Given the description of an element on the screen output the (x, y) to click on. 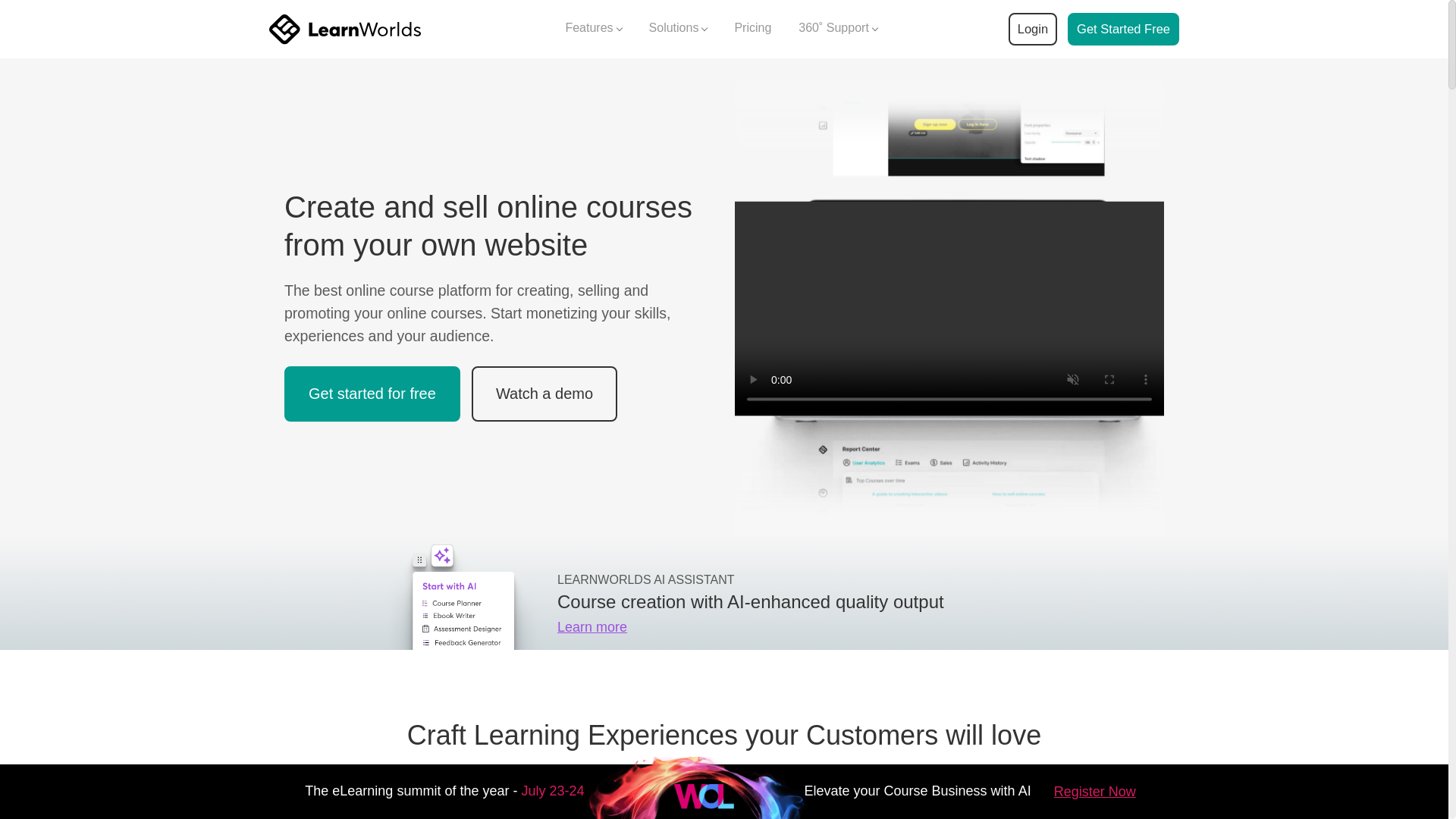
Features (592, 29)
Login to your LearnWorlds account (1032, 29)
LearnWorlds home (344, 28)
Start your demo with LearnWorlds (1123, 29)
